Given the description of an element on the screen output the (x, y) to click on. 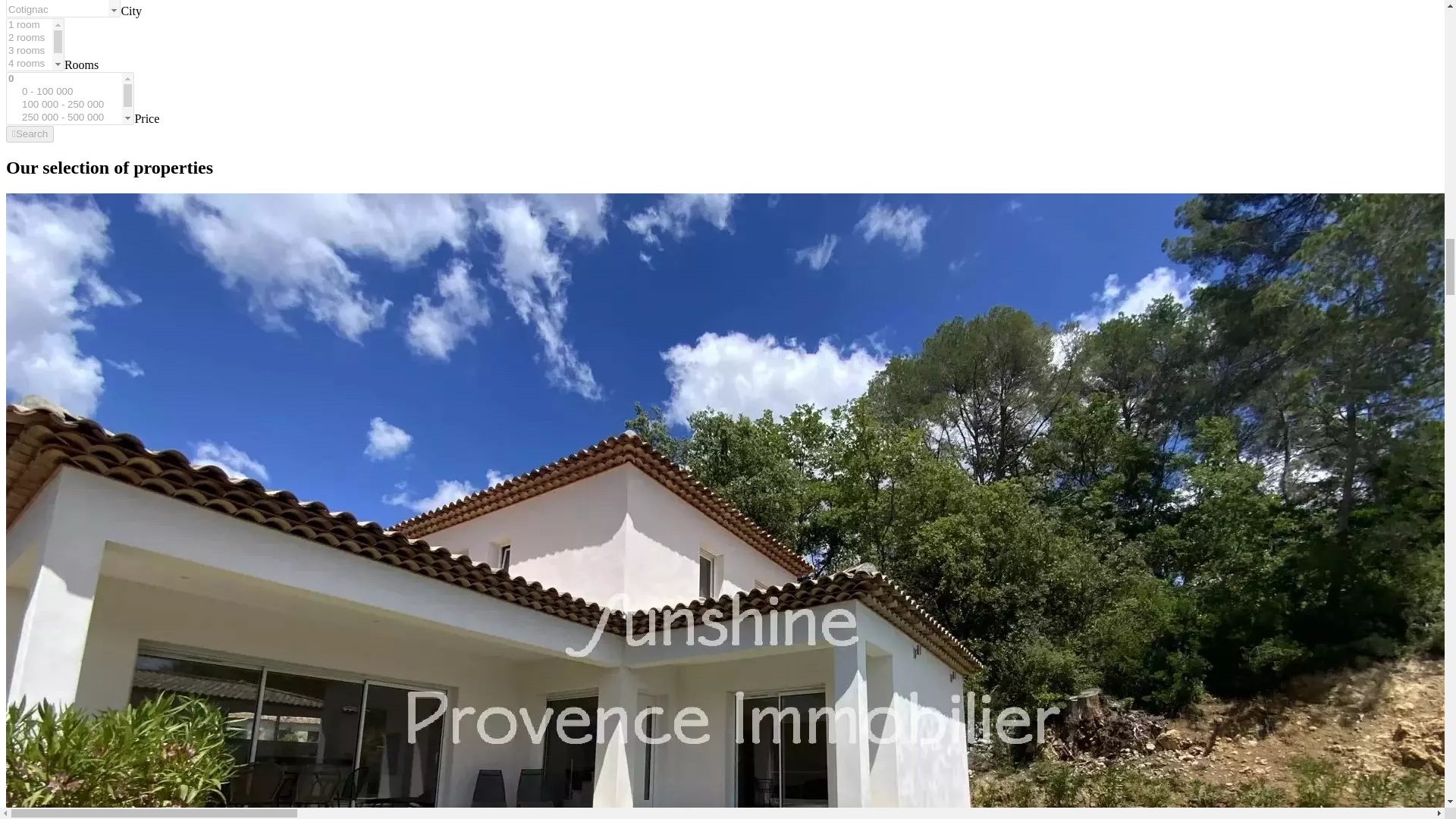
Search (29, 134)
Rooms (81, 64)
City (130, 10)
Price (145, 118)
